Given the description of an element on the screen output the (x, y) to click on. 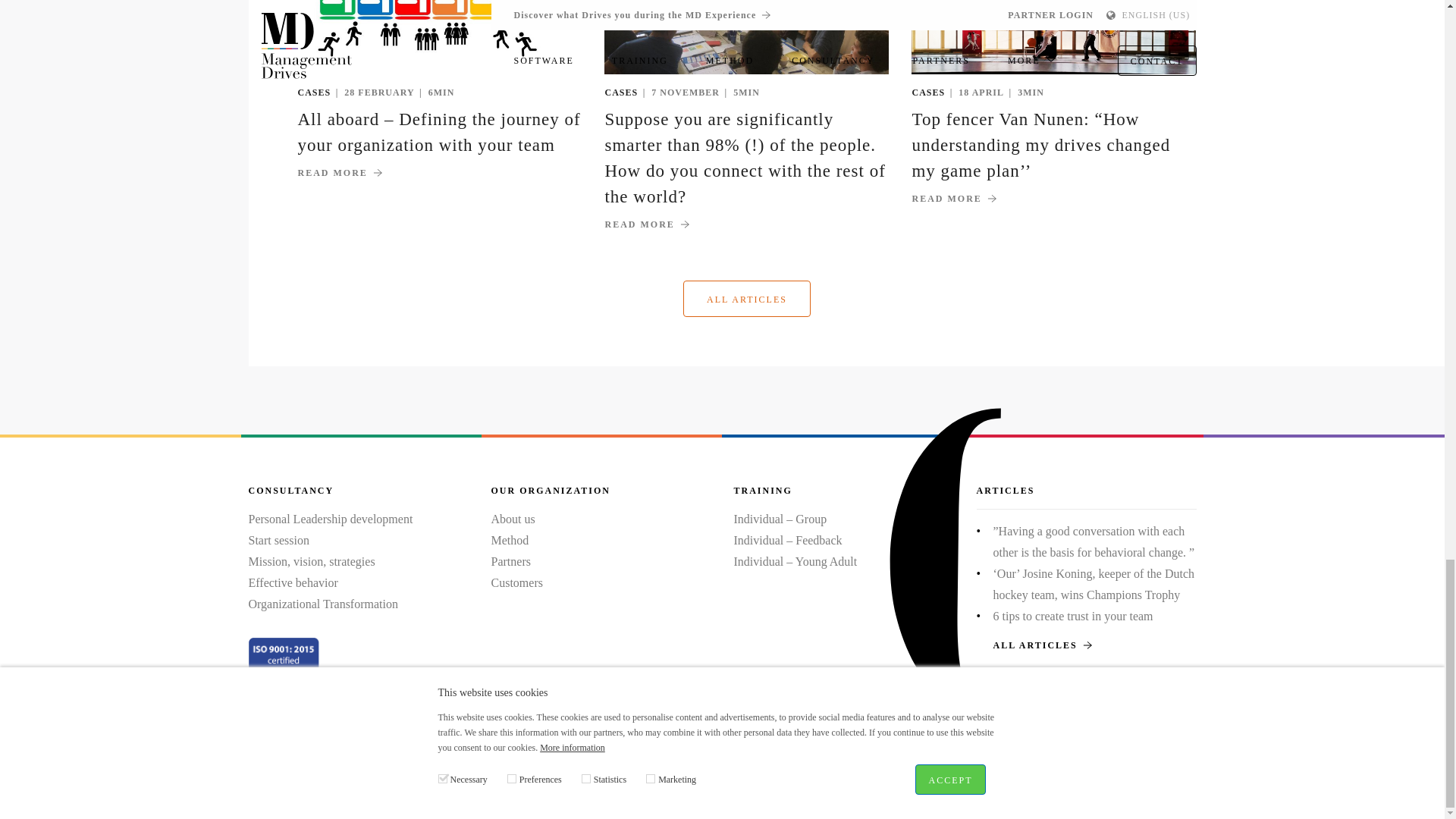
Organizational Transformation (322, 603)
Method (510, 540)
Legal (551, 758)
Start session (278, 540)
Personal Leadership development (330, 518)
6 tips to create trust in your team (1072, 615)
Customers (517, 582)
Effective behavior (292, 582)
About us (513, 518)
ALL ARTICLES (746, 298)
Partners (511, 561)
Mission, vision, strategies (311, 561)
ALL ARTICLES (1086, 644)
